Given the description of an element on the screen output the (x, y) to click on. 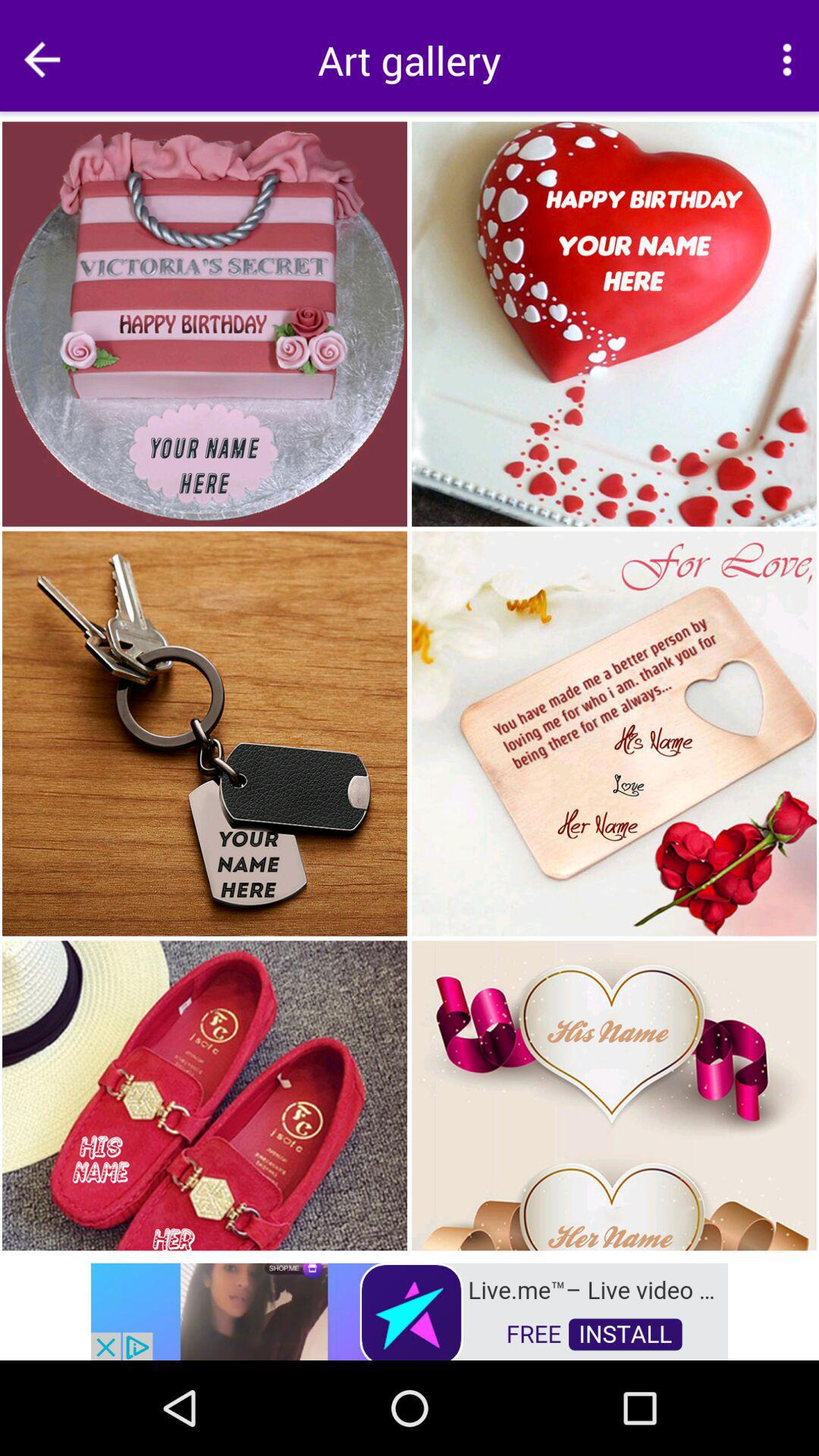
back button (41, 59)
